Given the description of an element on the screen output the (x, y) to click on. 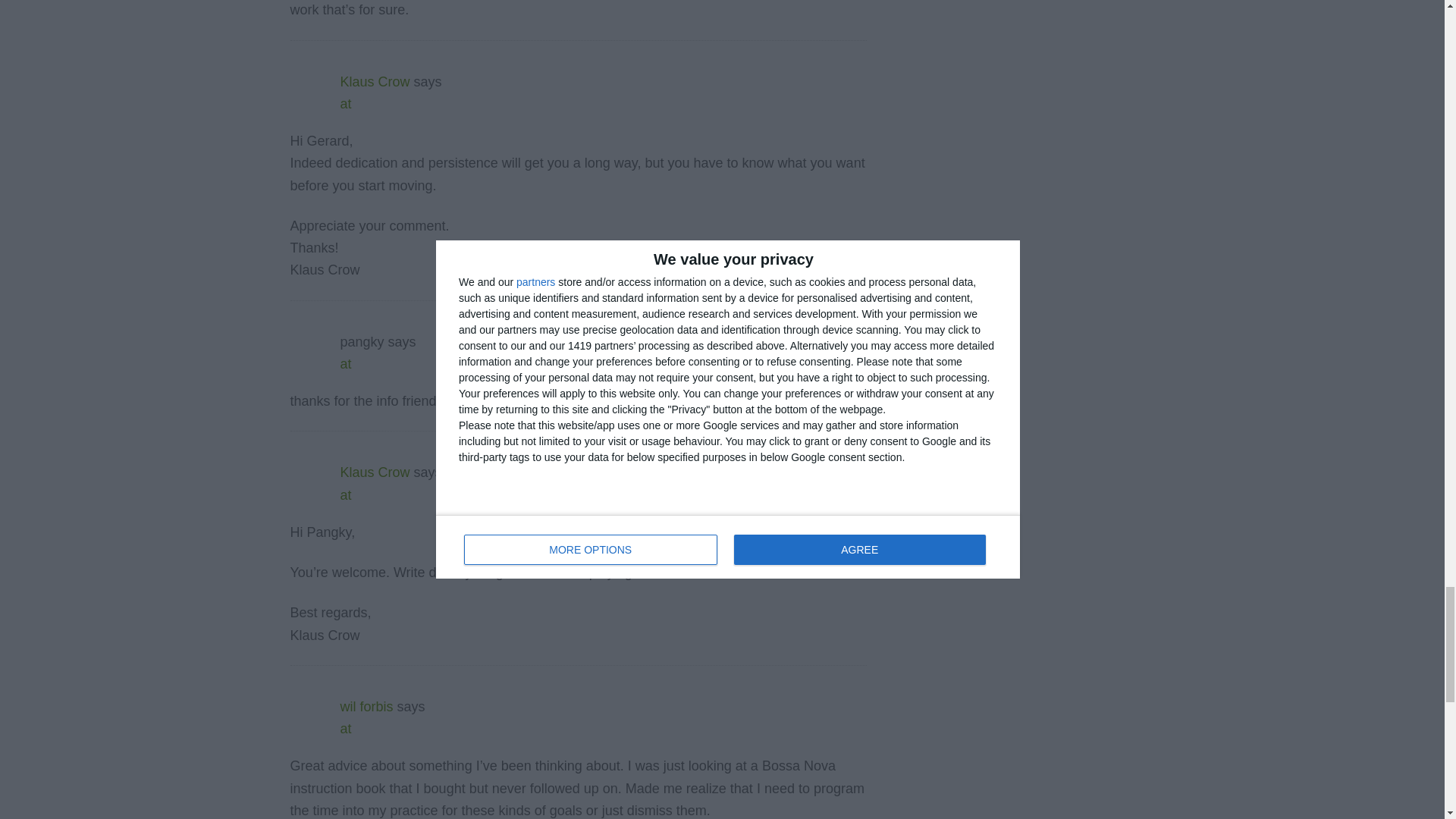
Klaus Crow (374, 472)
wil forbis (366, 706)
Klaus Crow (374, 81)
